Given the description of an element on the screen output the (x, y) to click on. 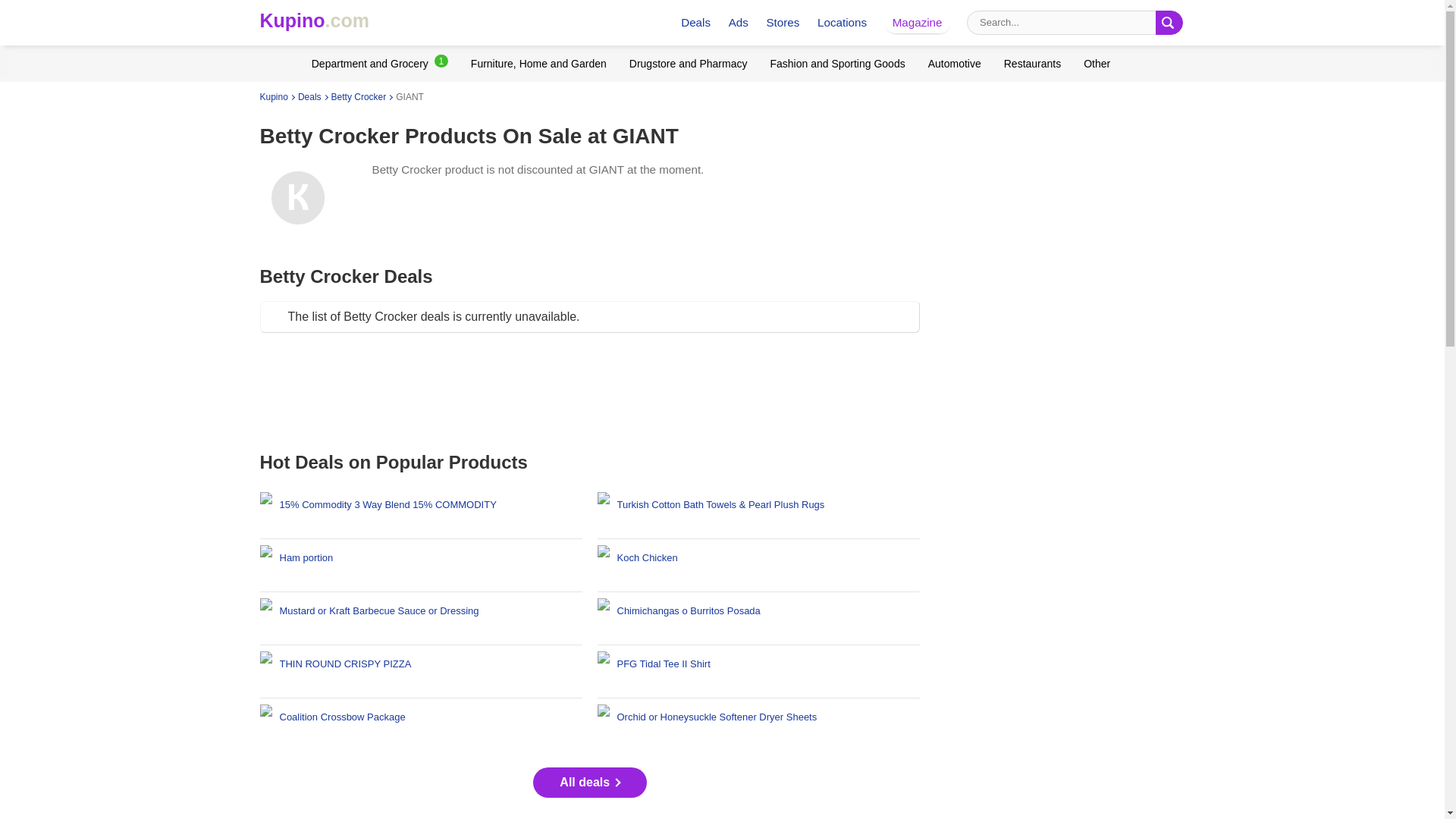
Weekly Ads and Deals from Stores (313, 20)
Fashion and Sporting Goods (837, 63)
Furniture, Home and Garden (538, 63)
Deals (695, 21)
Search (1169, 22)
Stores (782, 21)
Kupino.com (313, 20)
Restaurants (1032, 63)
Department and Grocery1 (379, 63)
Locations (841, 21)
Ads (738, 21)
Ads (738, 21)
Magazine (917, 21)
Stores (782, 21)
